Given the description of an element on the screen output the (x, y) to click on. 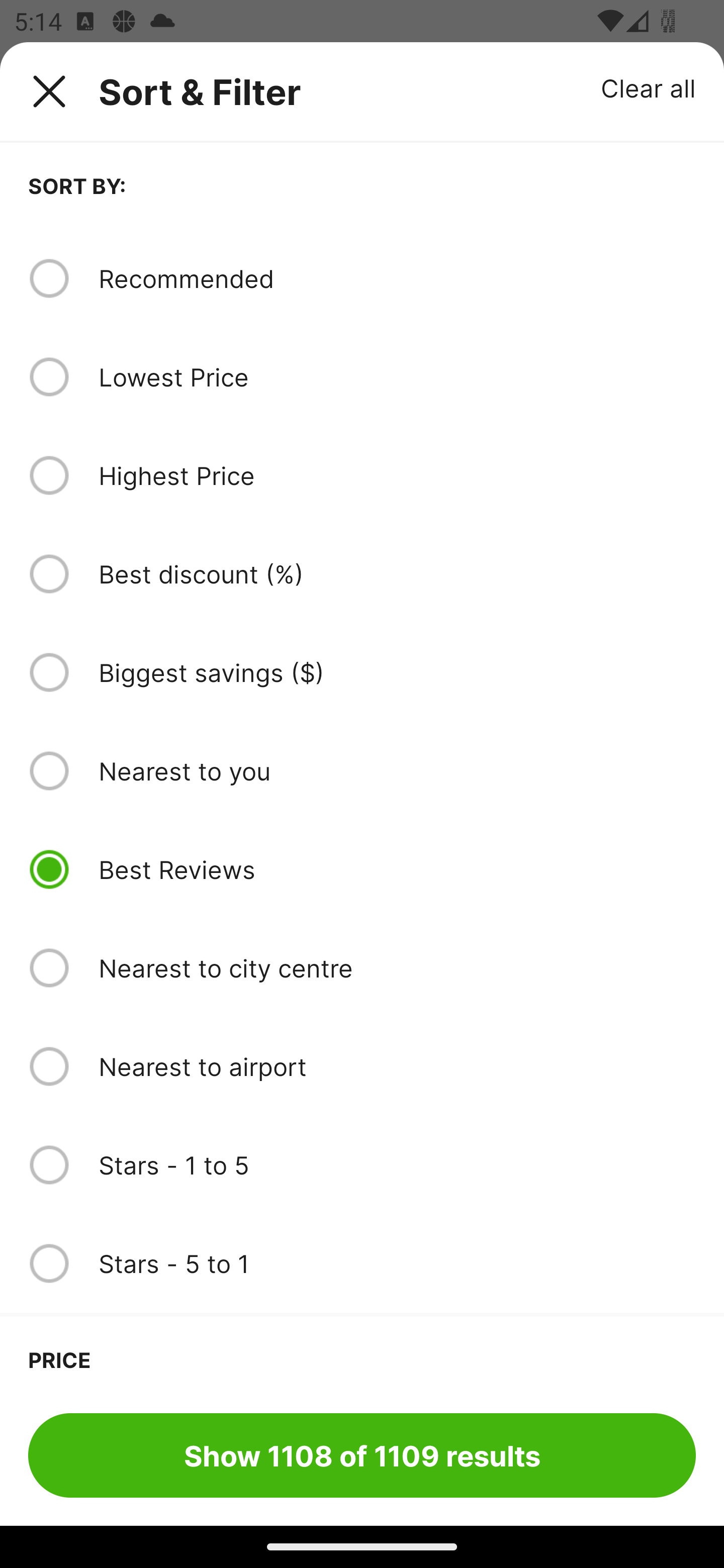
Clear all (648, 87)
Recommended  (396, 278)
Lowest Price (396, 377)
Highest Price (396, 474)
Best discount (%) (396, 573)
Biggest savings ($) (396, 672)
Nearest to you (396, 770)
Best Reviews (396, 869)
Nearest to city centre (396, 968)
Nearest to airport (396, 1065)
Stars - 1 to 5 (396, 1164)
Stars - 5 to 1 (396, 1263)
Show 1108 of 1109 results (361, 1454)
